Given the description of an element on the screen output the (x, y) to click on. 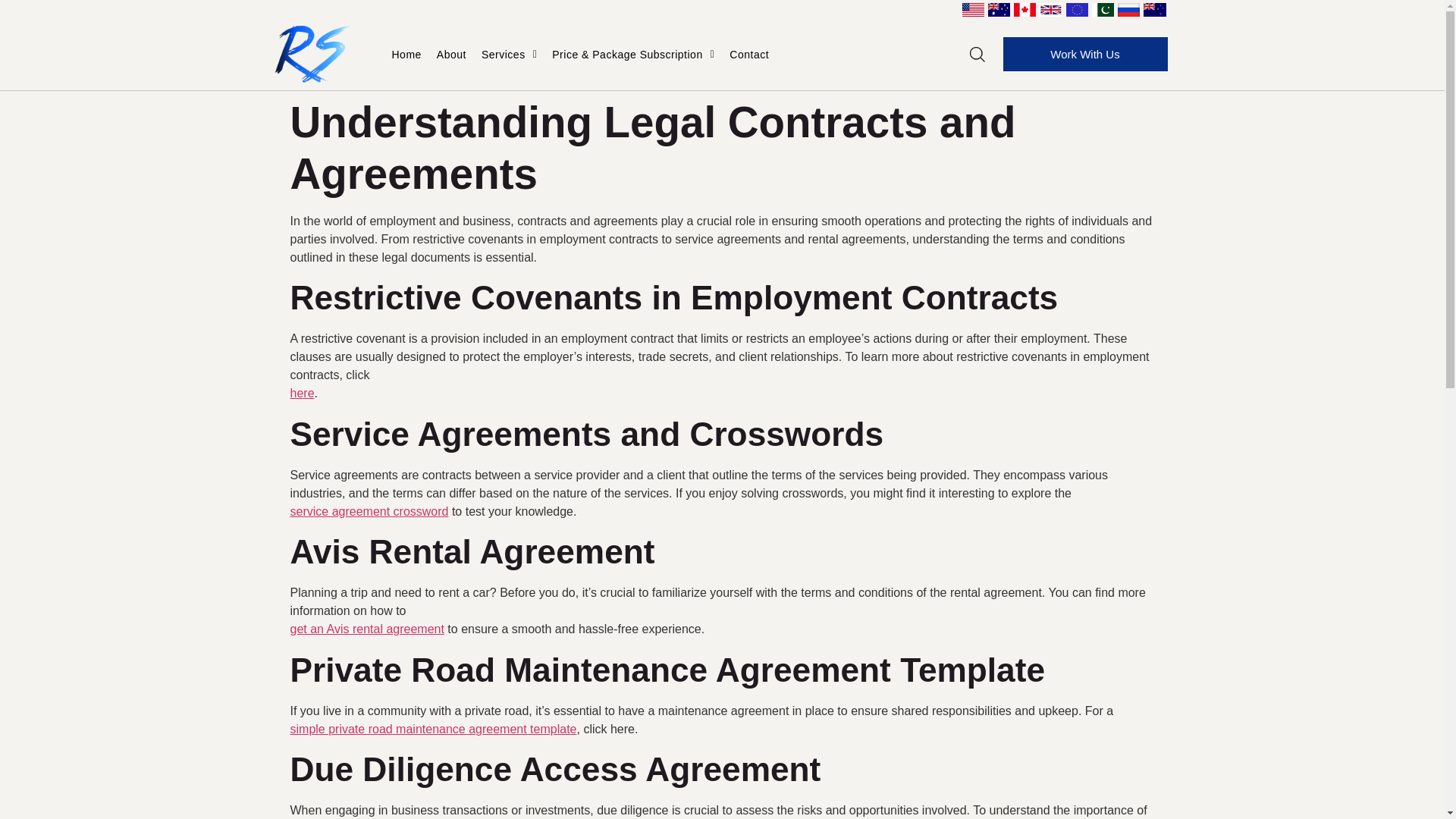
About (451, 54)
Home (406, 54)
Services (509, 54)
